Given the description of an element on the screen output the (x, y) to click on. 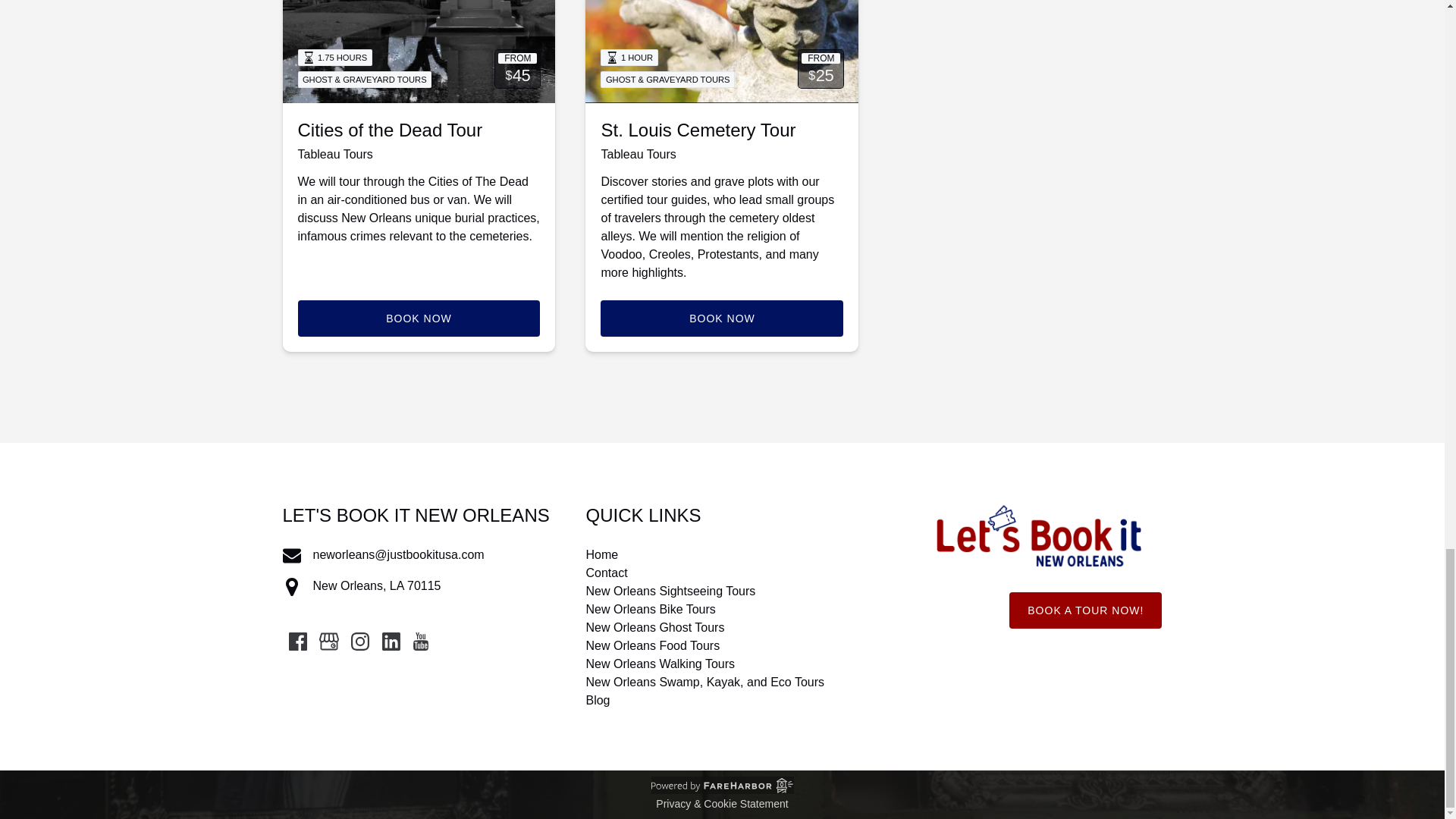
Map Marker (290, 587)
Envelope (290, 556)
